Given the description of an element on the screen output the (x, y) to click on. 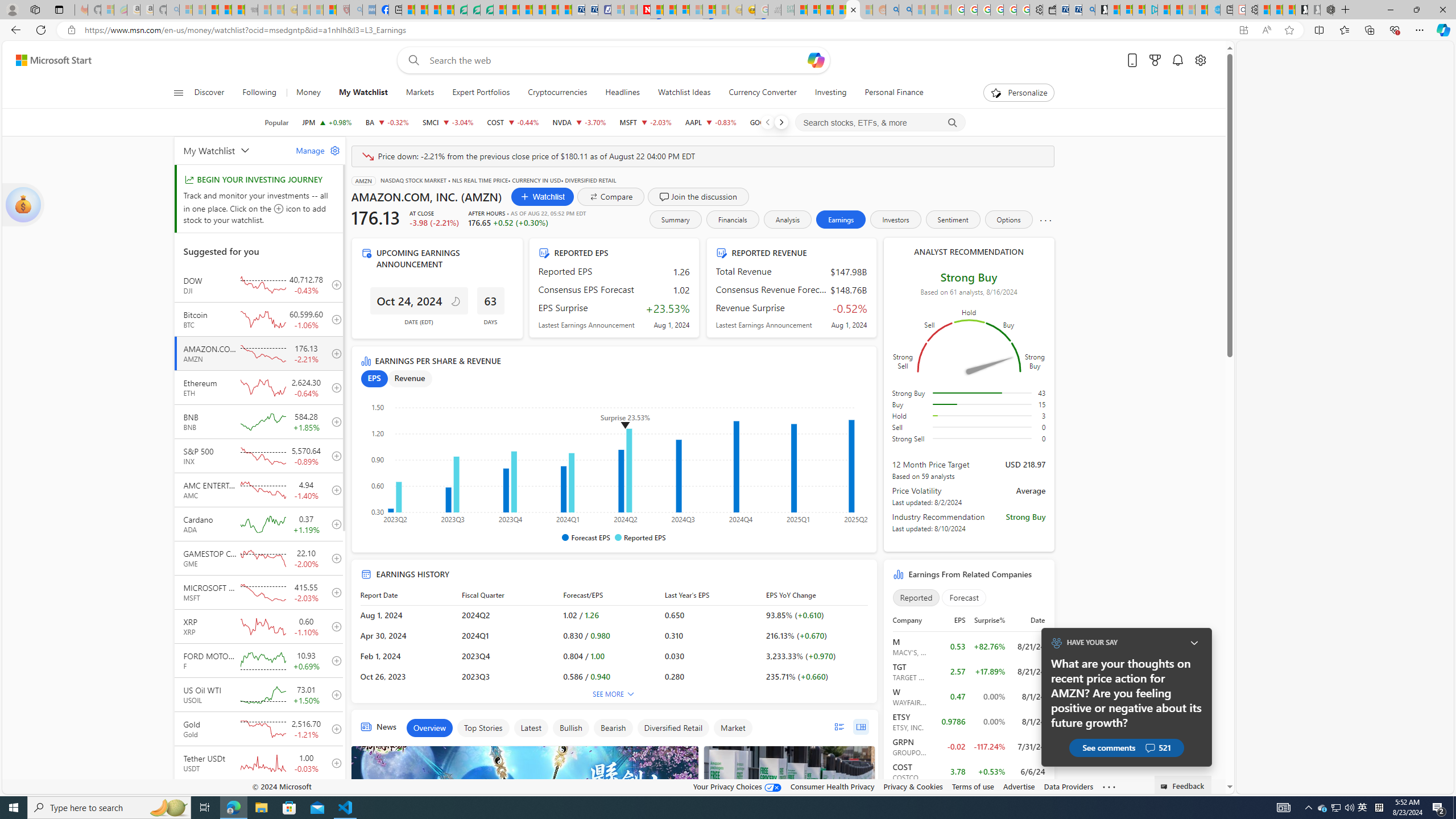
Skip to footer (46, 59)
LendingTree - Compare Lenders (460, 9)
Summary (675, 219)
Bing Real Estate - Home sales and rental listings (1088, 9)
Expert Portfolios (480, 92)
Options (1008, 219)
Cheap Hotels - Save70.com (590, 9)
MSNBC - MSN (800, 9)
